Given the description of an element on the screen output the (x, y) to click on. 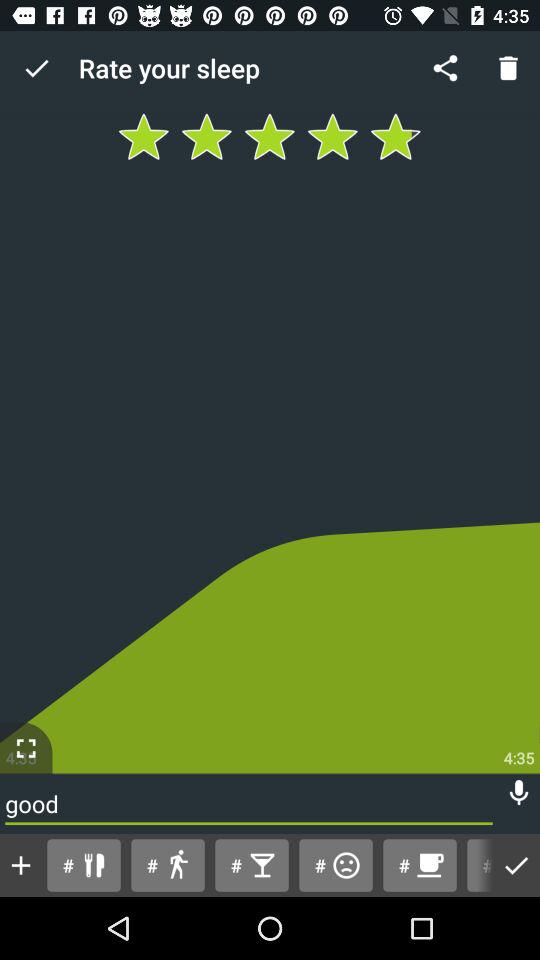
turn on icon to the left of rate your sleep icon (36, 68)
